Given the description of an element on the screen output the (x, y) to click on. 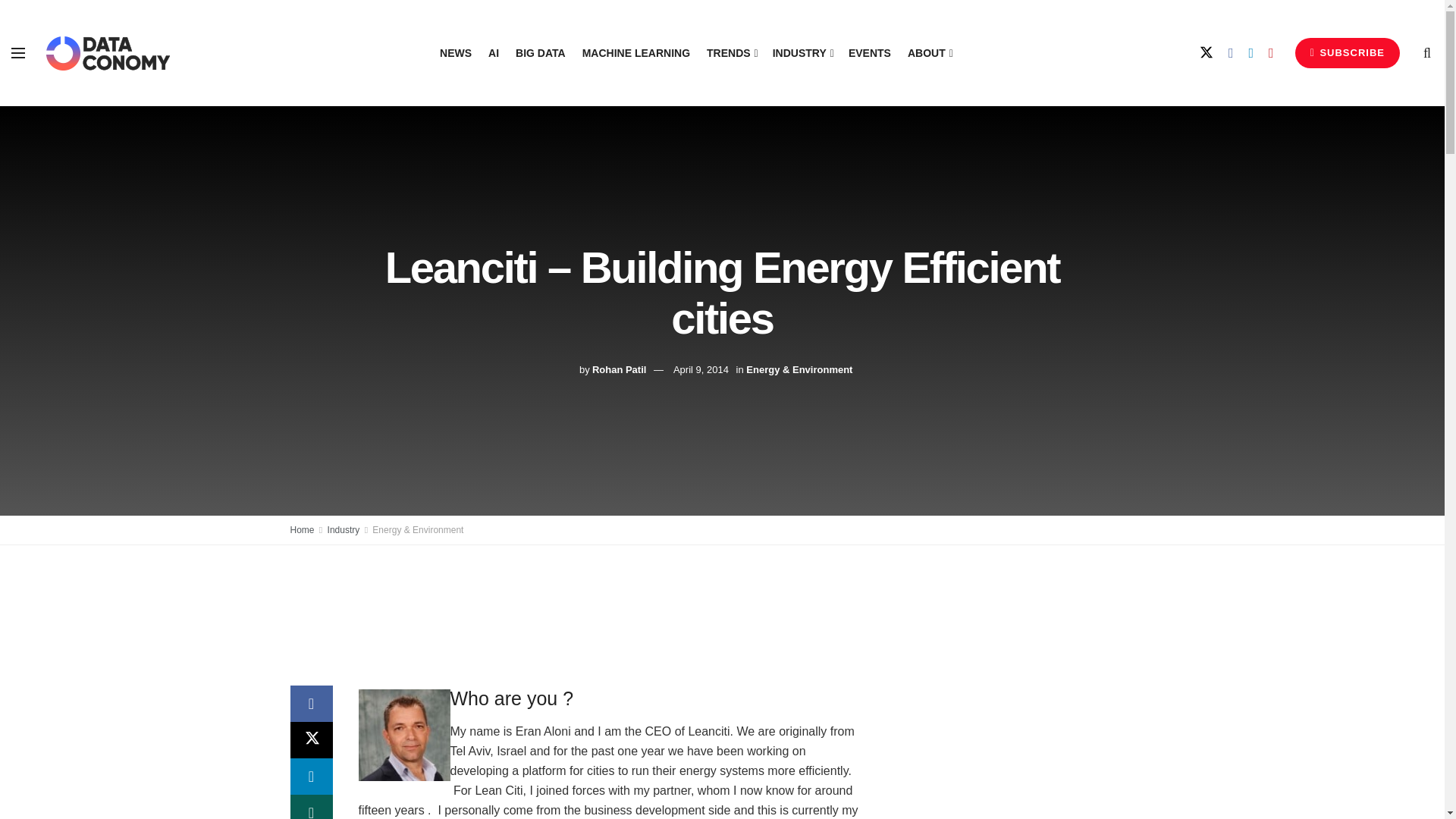
INDUSTRY (802, 52)
BIG DATA (540, 52)
NEWS (455, 52)
MACHINE LEARNING (636, 52)
Leanciti - Building Energy Efficient cities 1 (403, 735)
EVENTS (869, 52)
TRENDS (730, 52)
ABOUT (928, 52)
SUBSCRIBE (1347, 52)
